Given the description of an element on the screen output the (x, y) to click on. 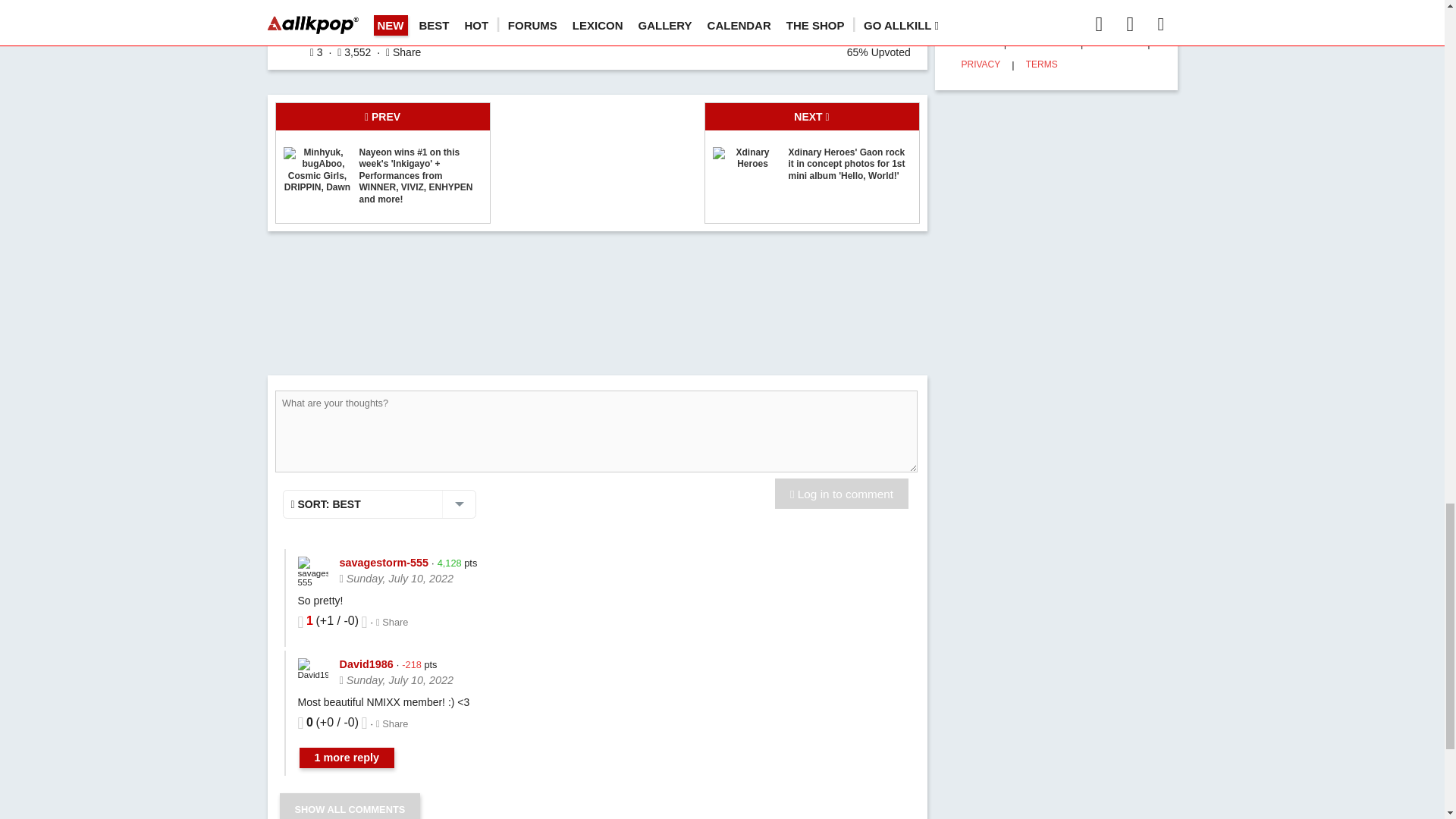
NMIXX (344, 5)
David1986 (312, 668)
savagestorm-555 (312, 571)
Xdinary Heroes (746, 169)
